Given the description of an element on the screen output the (x, y) to click on. 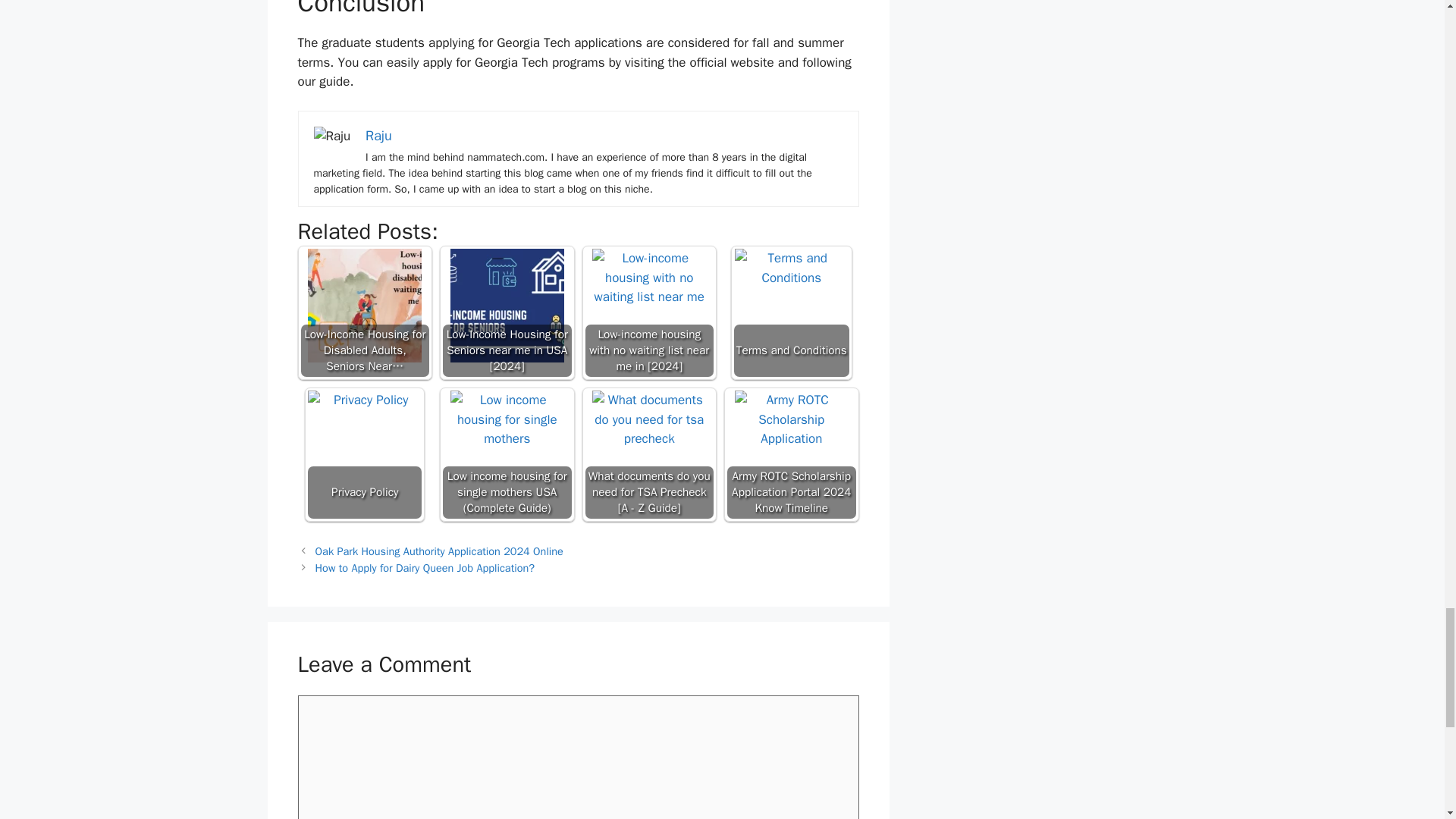
Privacy Policy (364, 447)
Terms and Conditions (791, 305)
Raju (378, 135)
